Given the description of an element on the screen output the (x, y) to click on. 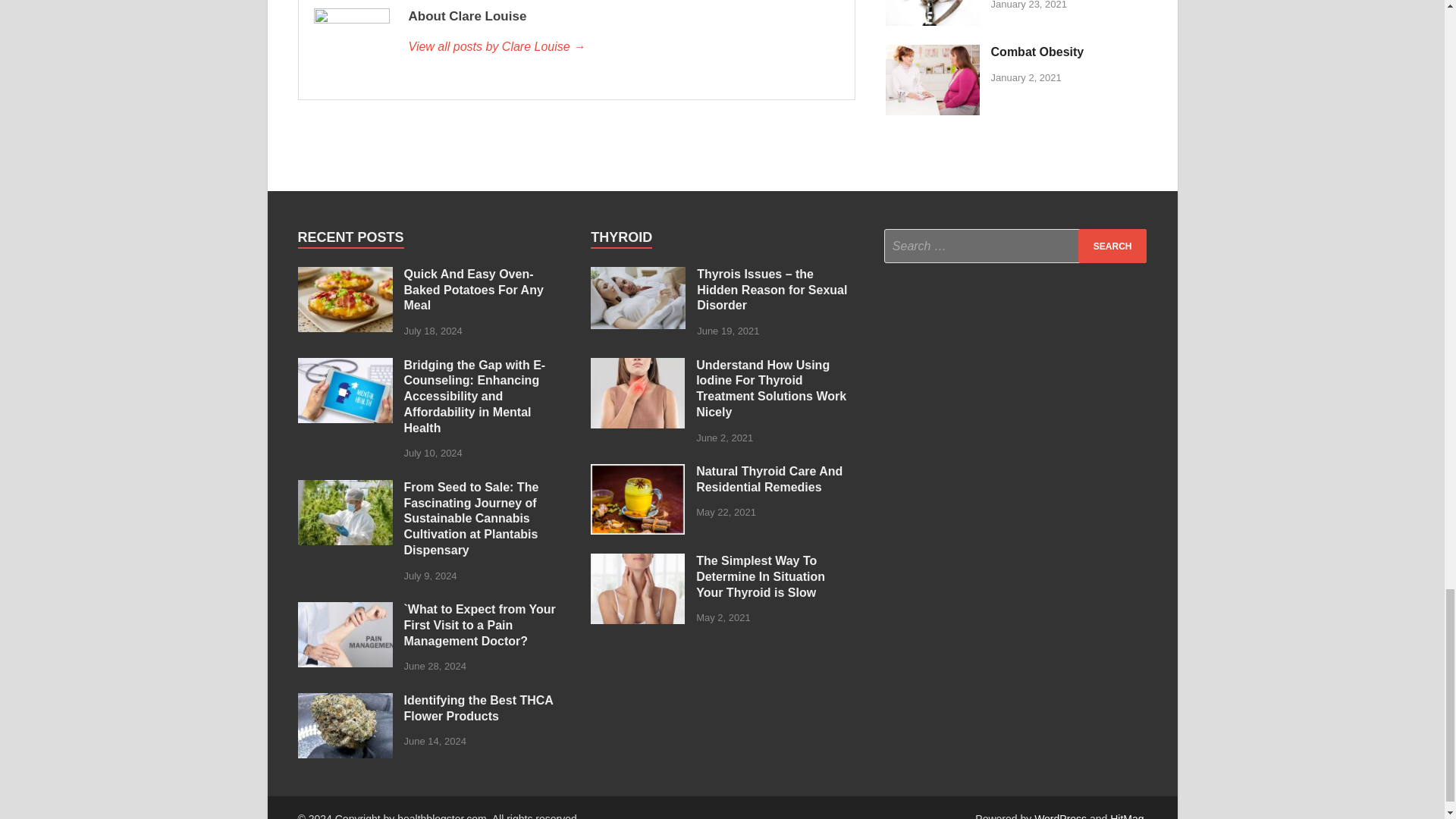
Search (1112, 245)
Clare Louise (622, 46)
Search (1112, 245)
